Given the description of an element on the screen output the (x, y) to click on. 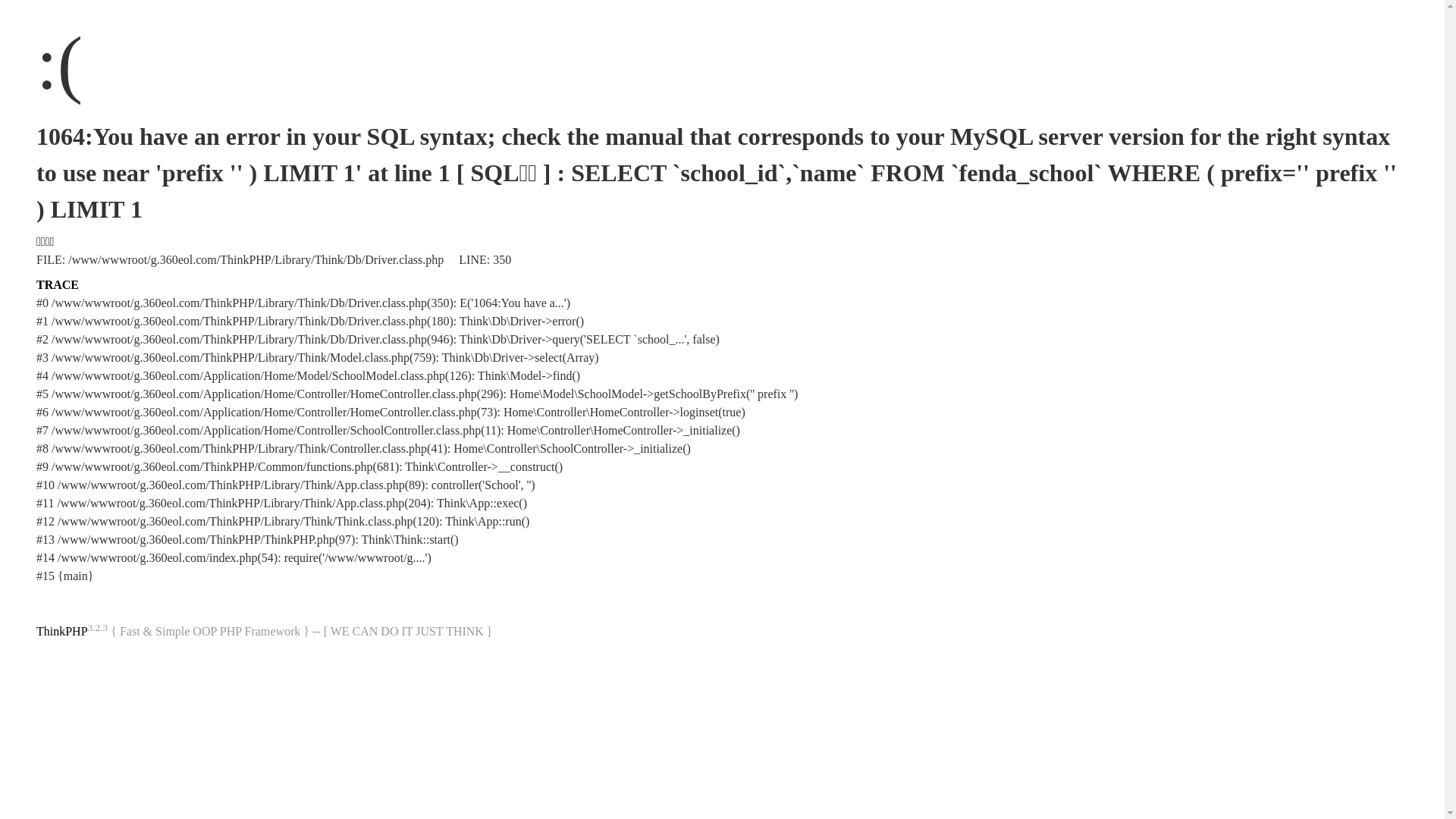
ThinkPHP Element type: text (61, 630)
